Given the description of an element on the screen output the (x, y) to click on. 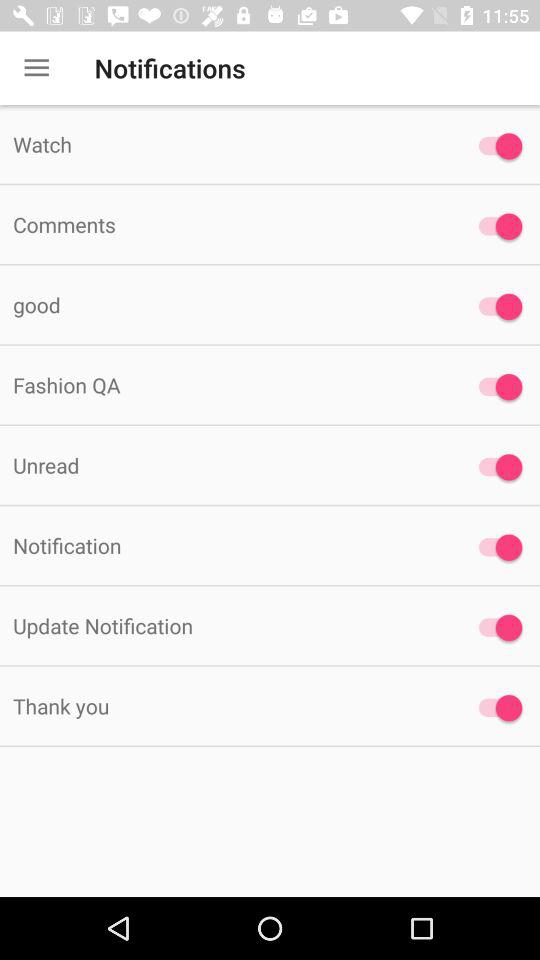
toggle notification on/off (495, 547)
